Given the description of an element on the screen output the (x, y) to click on. 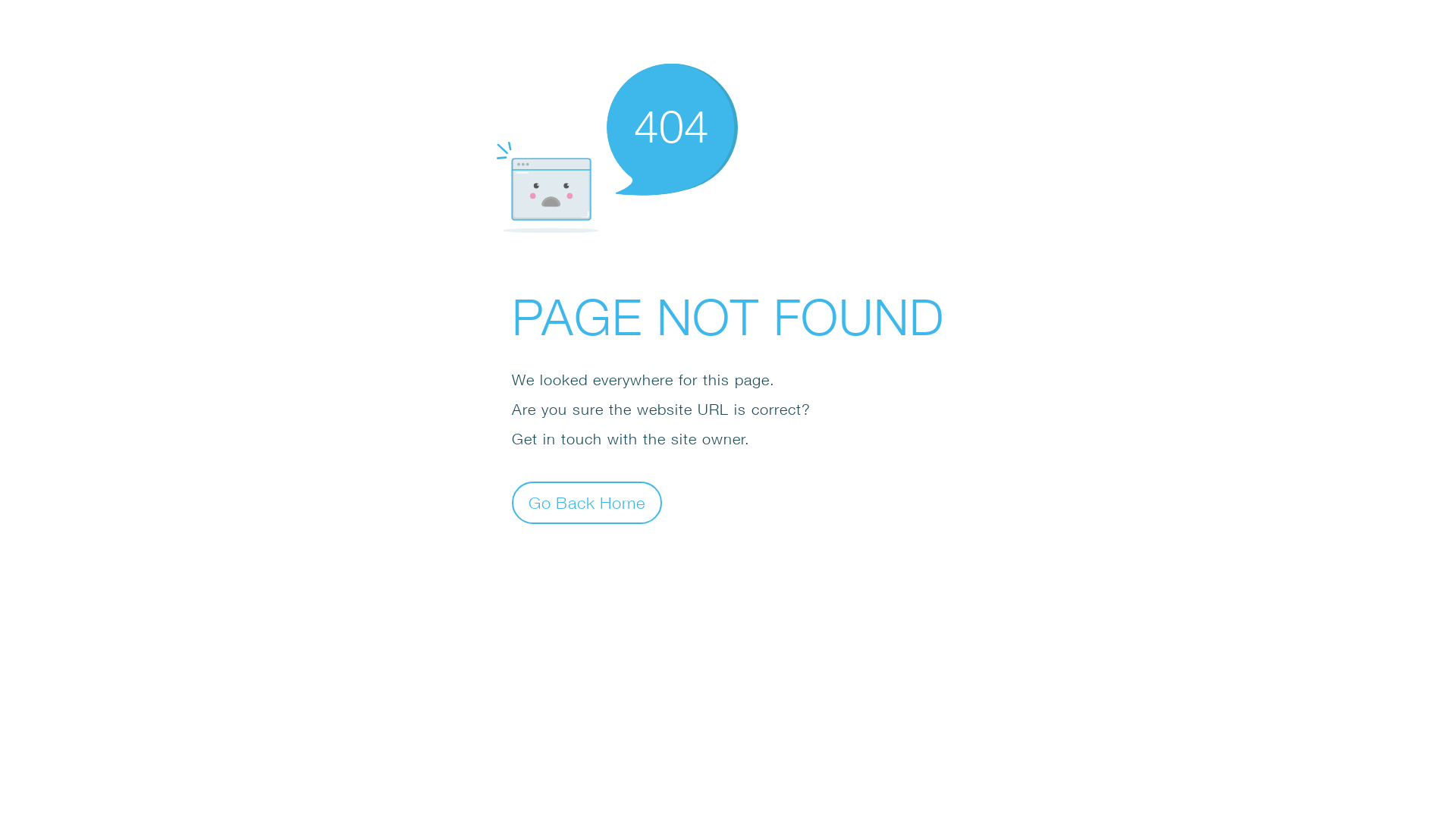
Go Back Home Element type: text (586, 502)
